Given the description of an element on the screen output the (x, y) to click on. 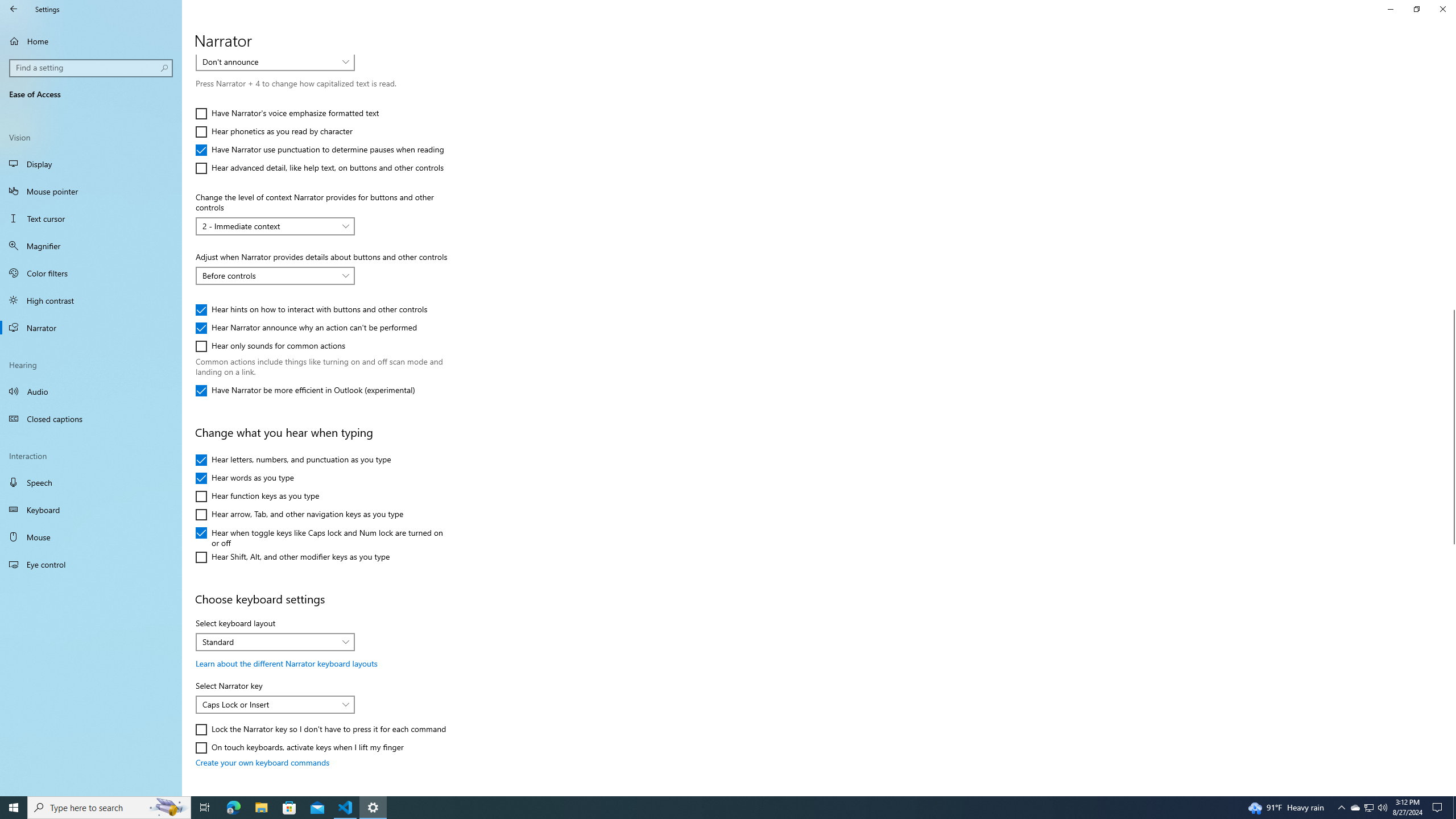
Hear Narrator announce why an action can't be performed (306, 328)
Hear Shift, Alt, and other modifier keys as you type (292, 556)
Create your own keyboard commands (262, 762)
Have Narrator be more efficient in Outlook (experimental) (304, 390)
Hear only sounds for common actions (270, 346)
Vertical (1451, 425)
